Given the description of an element on the screen output the (x, y) to click on. 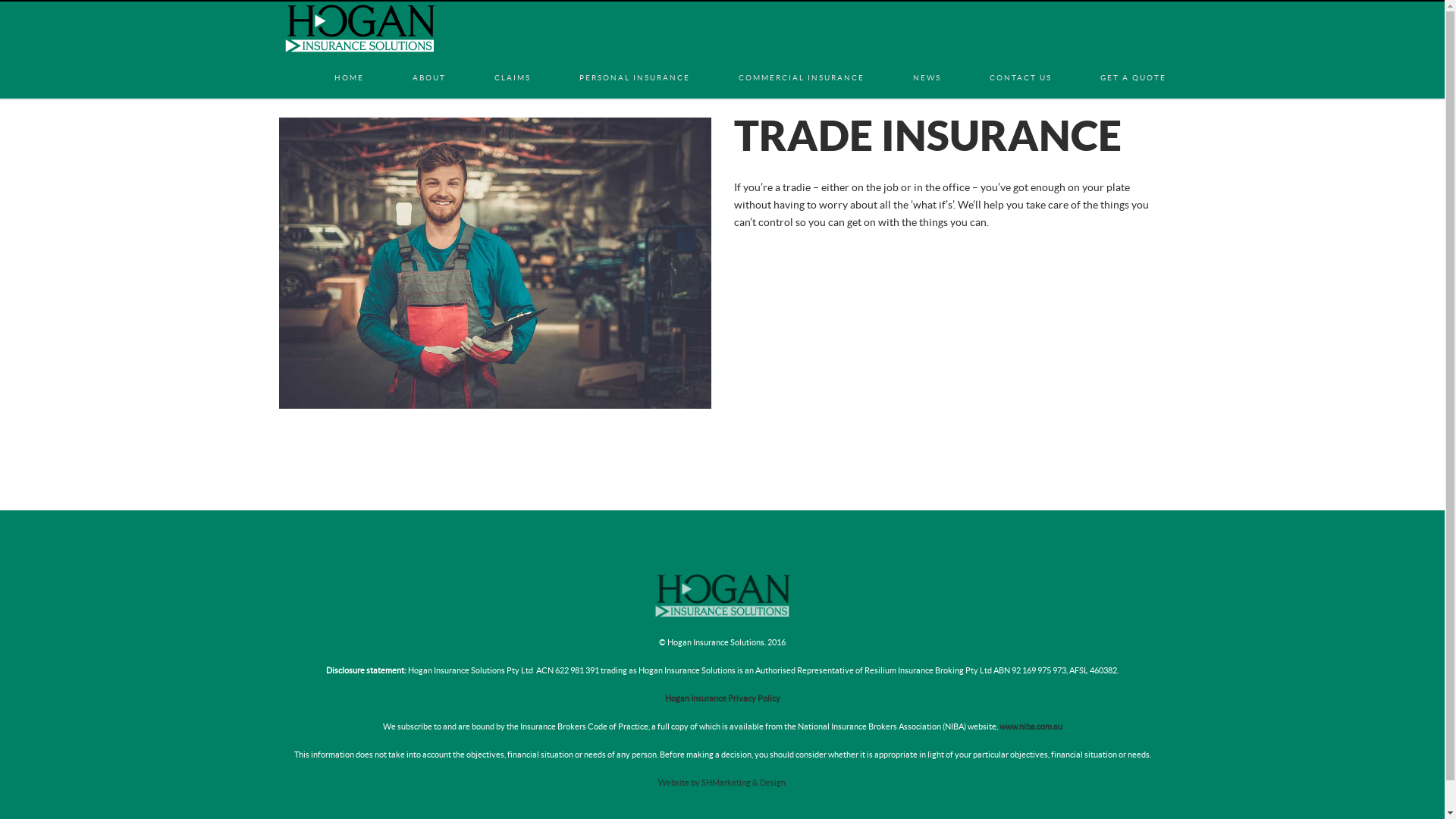
Hogan Insurance Privacy Policy Element type: text (721, 698)
COMMERCIAL INSURANCE Element type: text (801, 61)
CONTACT US Element type: text (1019, 61)
HOME Element type: text (348, 61)
CLAIMS Element type: text (512, 61)
Website by SHMarketing & Design. Element type: text (722, 782)
NEWS Element type: text (927, 61)
ABOUT Element type: text (428, 61)
www.niba.com.au Element type: text (1030, 726)
PERSONAL INSURANCE Element type: text (634, 61)
GET A QUOTE Element type: text (1132, 61)
